Given the description of an element on the screen output the (x, y) to click on. 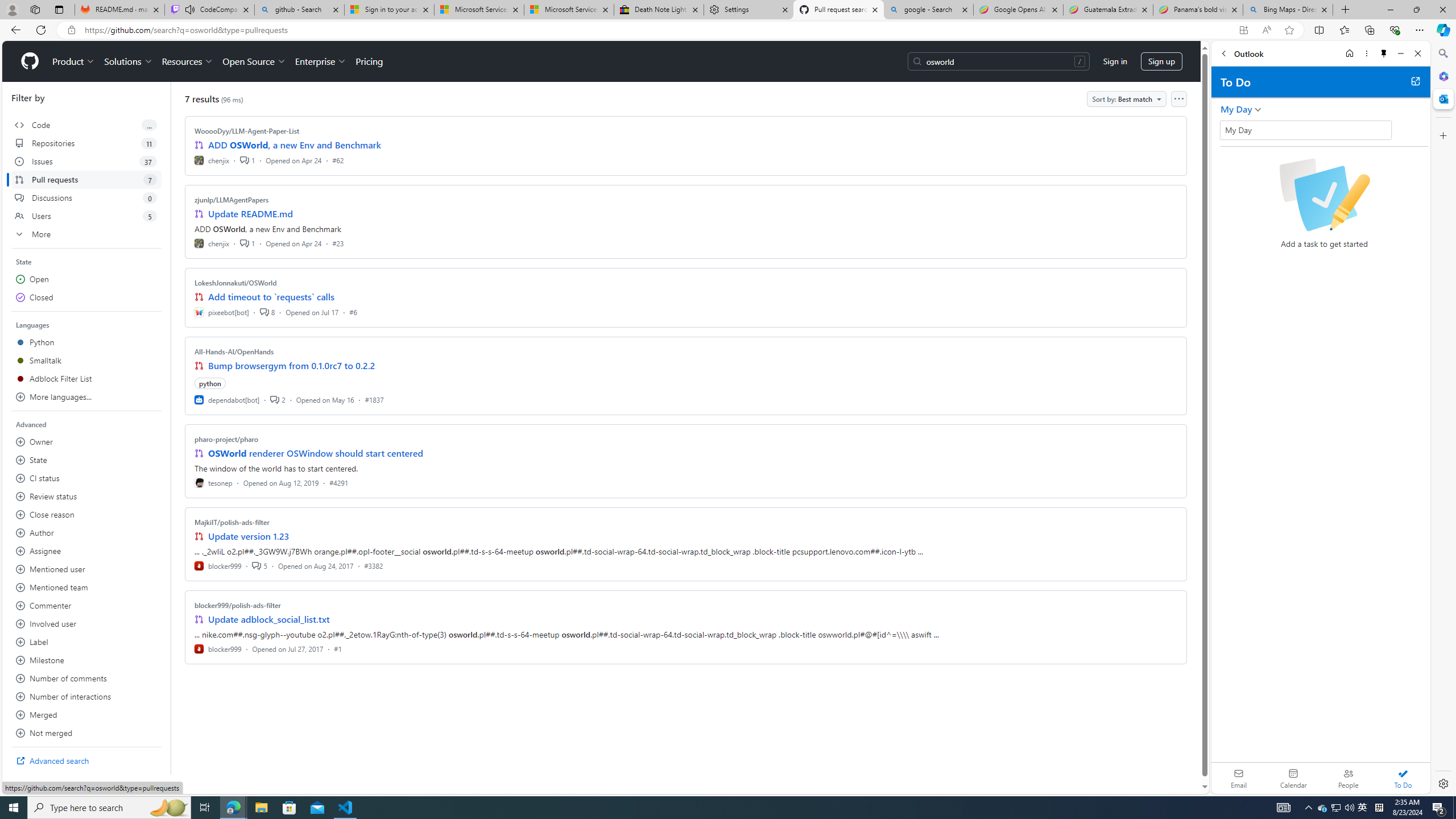
Product (74, 60)
#23 (337, 242)
#23 (337, 242)
Email (1238, 777)
All-Hands-AI/OpenHands (234, 351)
